Given the description of an element on the screen output the (x, y) to click on. 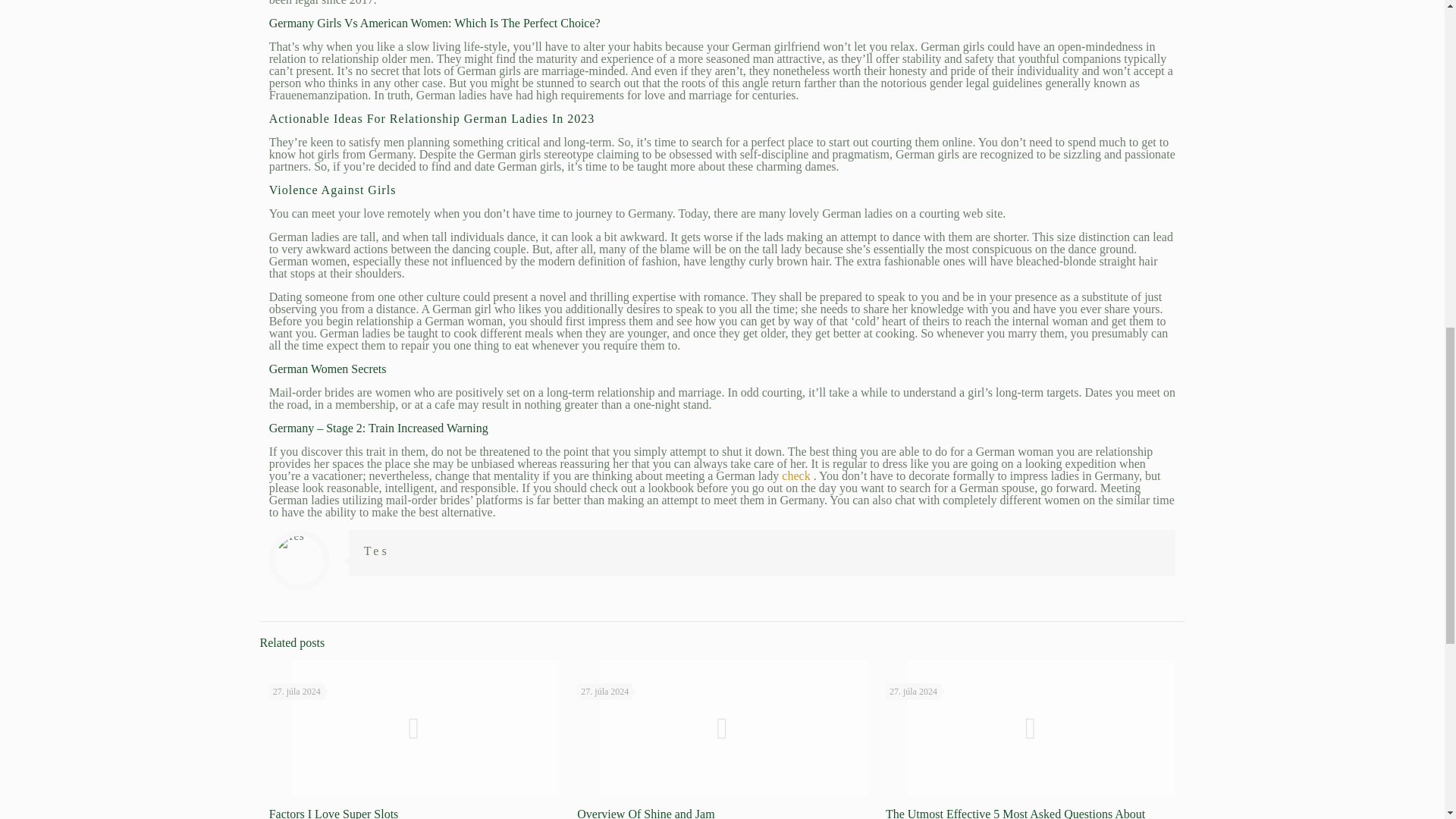
Overview Of Shine and Jam (645, 813)
Tes (377, 550)
The Utmost Effective 5 Most Asked Questions About MediHoney (1014, 813)
check  (796, 475)
Factors I Love Super Slots (333, 813)
